Given the description of an element on the screen output the (x, y) to click on. 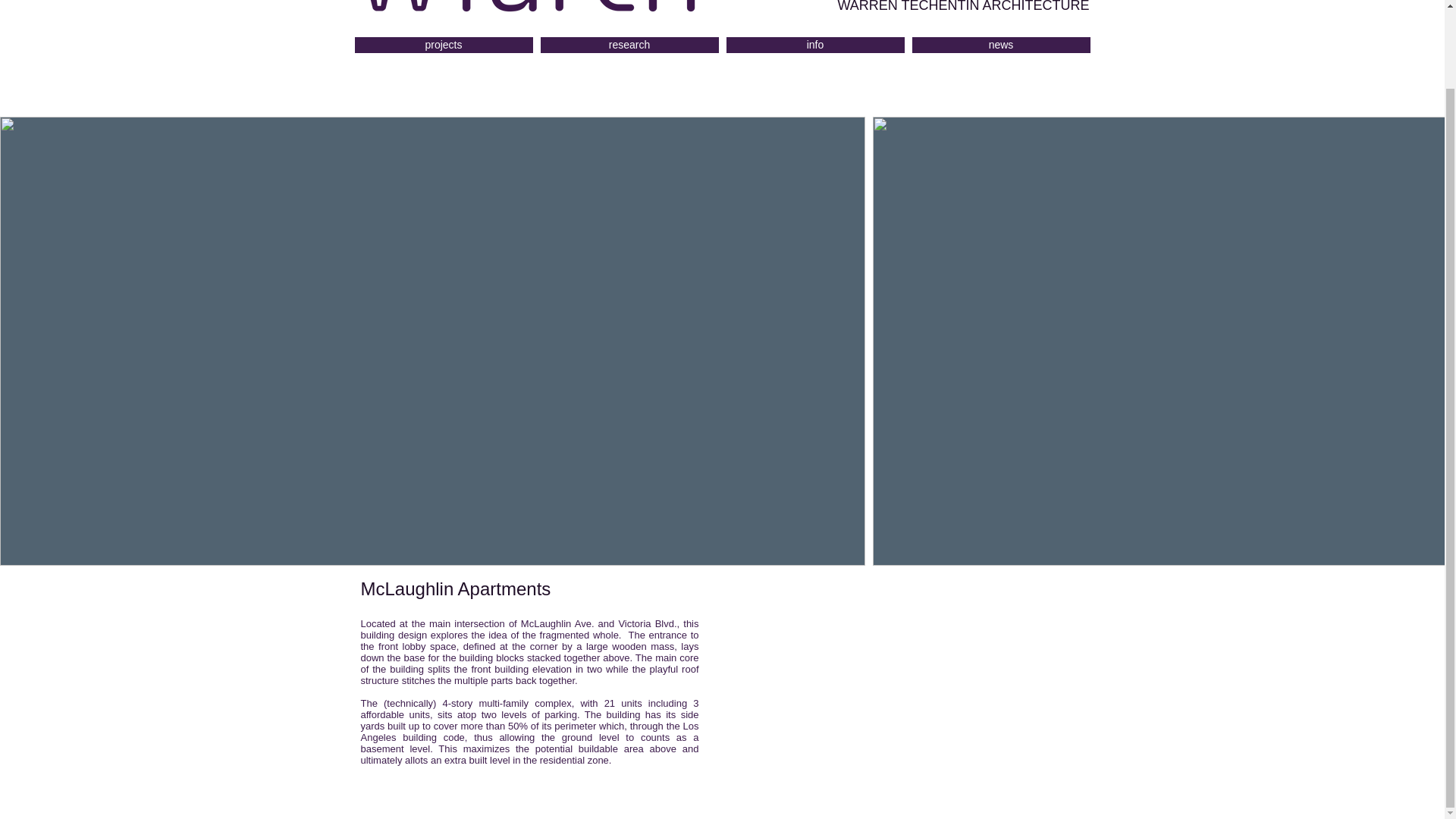
news (1000, 44)
research (628, 44)
projects (443, 44)
